Given the description of an element on the screen output the (x, y) to click on. 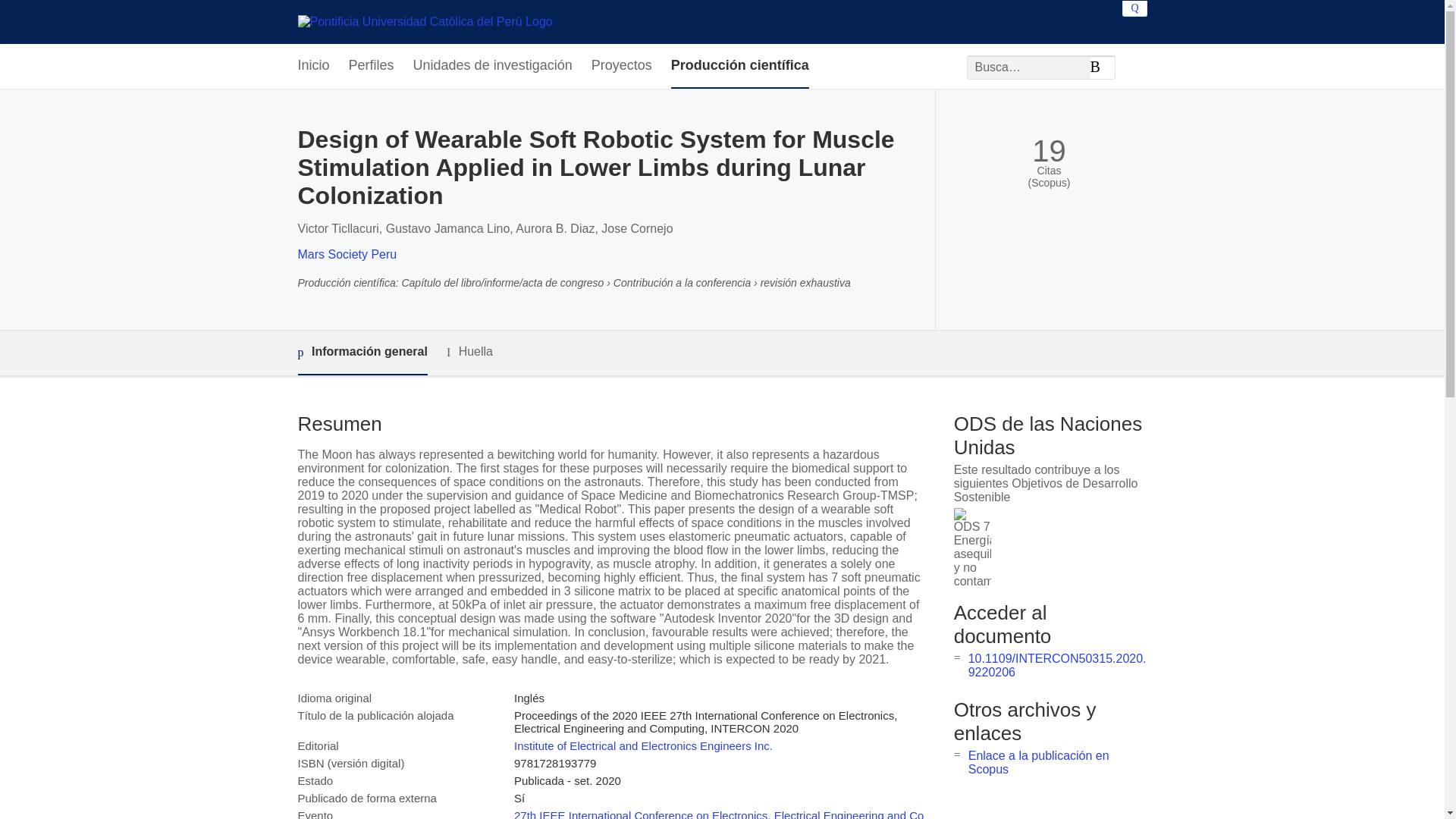
Proyectos (621, 66)
Perfiles (371, 66)
Institute of Electrical and Electronics Engineers Inc. (643, 745)
Huella (469, 351)
Mars Society Peru (346, 254)
